Given the description of an element on the screen output the (x, y) to click on. 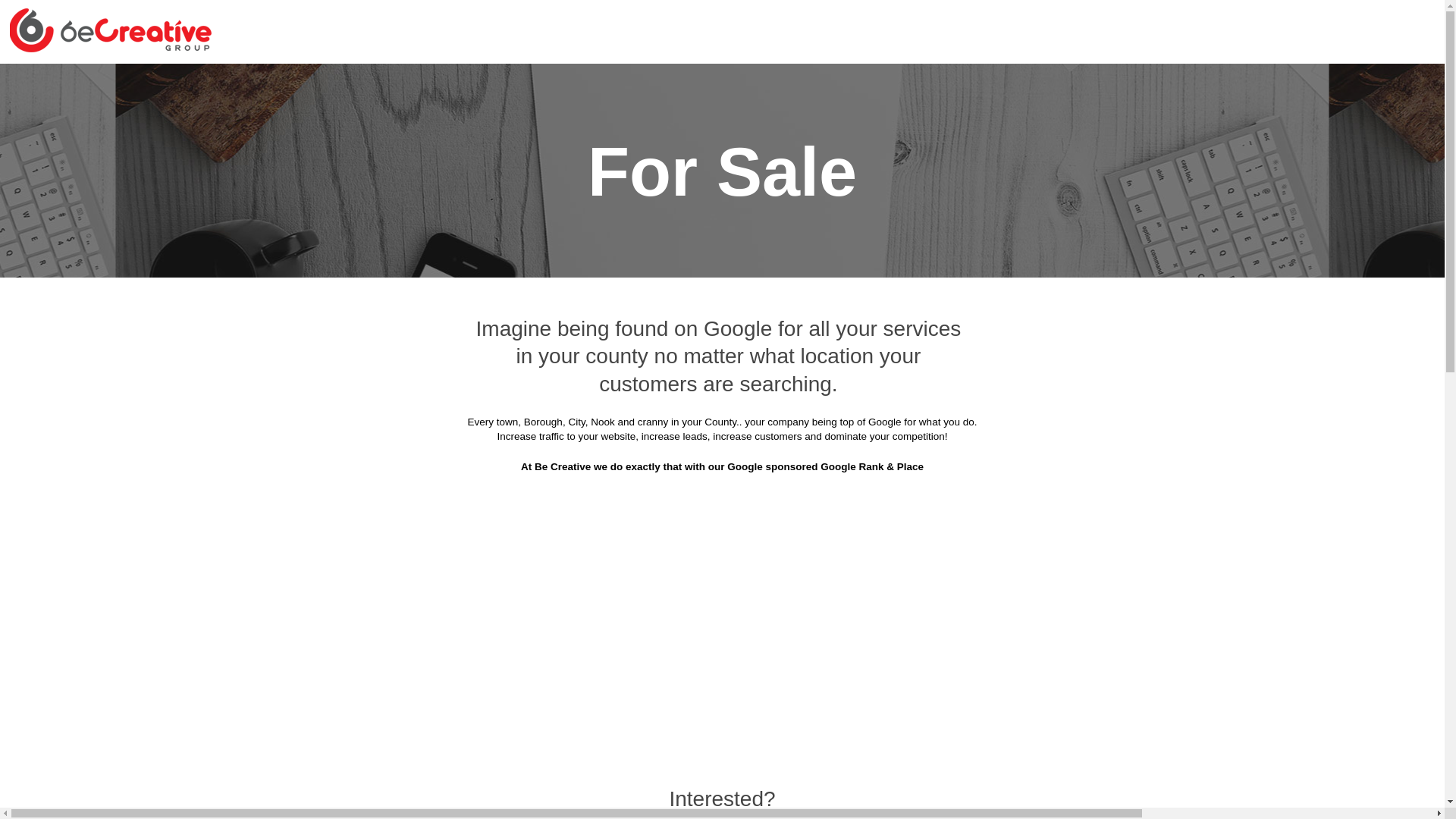
Aggregate Suppliers Callington Cornwall (834, 196)
Aggregate Suppliers Bideford Devon (617, 121)
Aggregate Suppliers Chulmleigh Devon (850, 234)
Aggregate Suppliers Buckfastleigh Devon (860, 158)
Aggregate Suppliers Ashburton Devon (855, 83)
Aggregate Suppliers Bovey Tracey Devon (1070, 121)
Aggregate Suppliers Chudleigh Devon (622, 234)
Aggregate Suppliers Bude Cornwall (1086, 158)
Aggregate Suppliers Ivybridge Devon (848, 383)
Aggregate Suppliers Falmouth Cornwall (600, 309)
Aggregate Suppliers Hayle Cornwall (631, 346)
Aggregate Suppliers Axminster Devon (1080, 83)
Aggregate Suppliers Camelford Cornwall (390, 234)
Aggregate Suppliers Devon (660, 83)
Aggregate Suppliers Kingsbridge Devon (1074, 383)
